Given the description of an element on the screen output the (x, y) to click on. 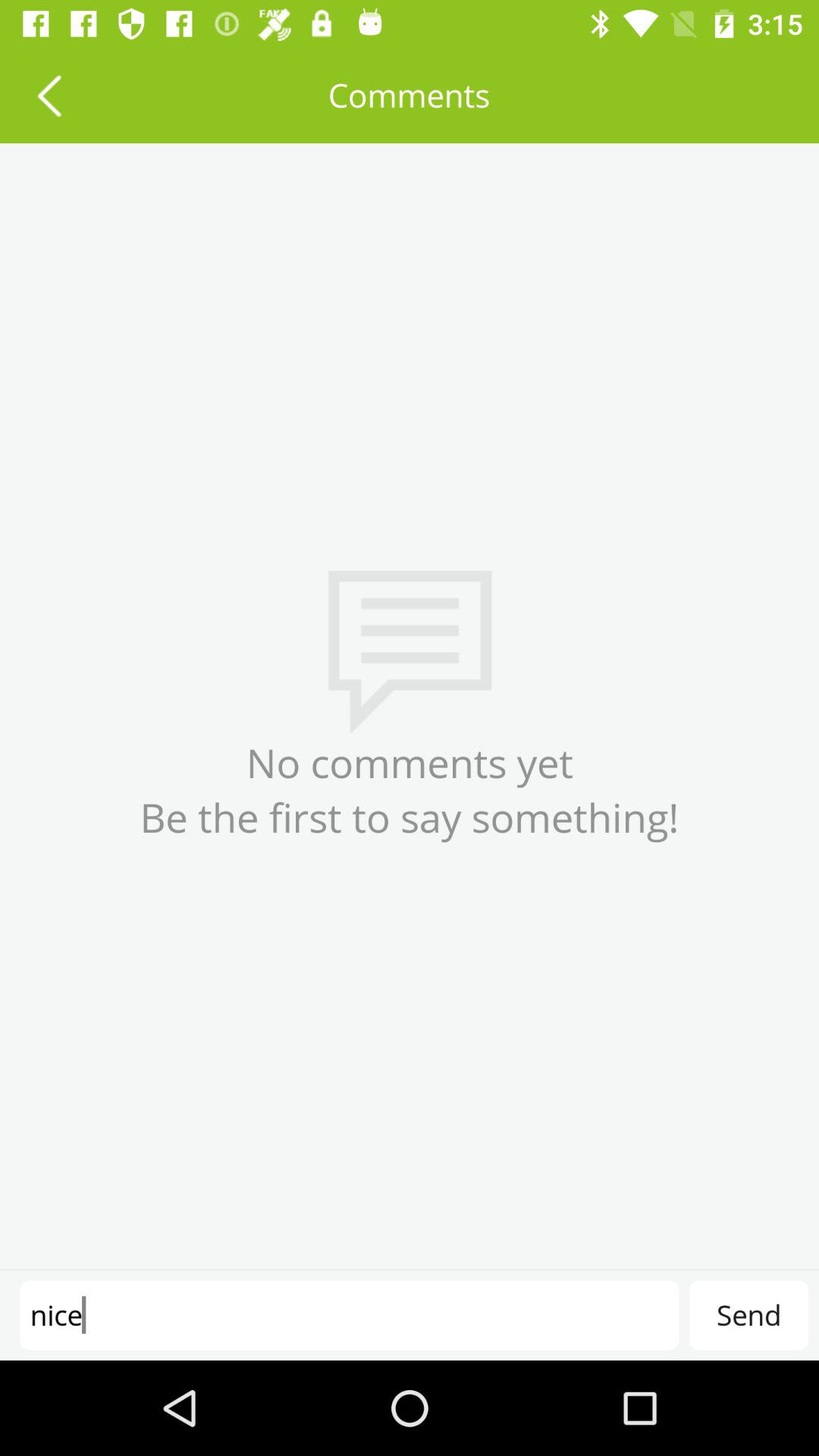
press nice icon (349, 1315)
